Given the description of an element on the screen output the (x, y) to click on. 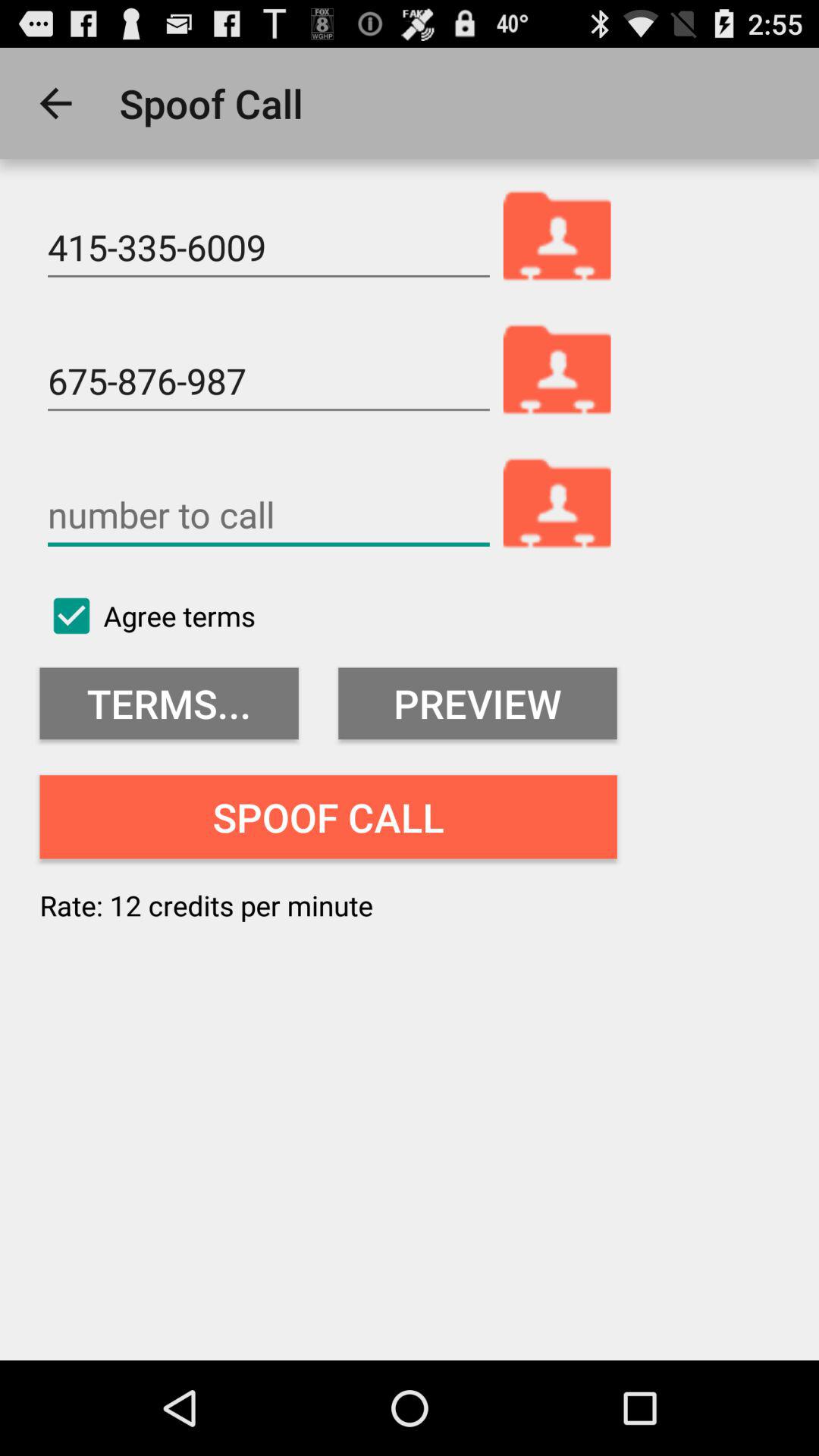
open the icon above the spoof call (477, 703)
